Given the description of an element on the screen output the (x, y) to click on. 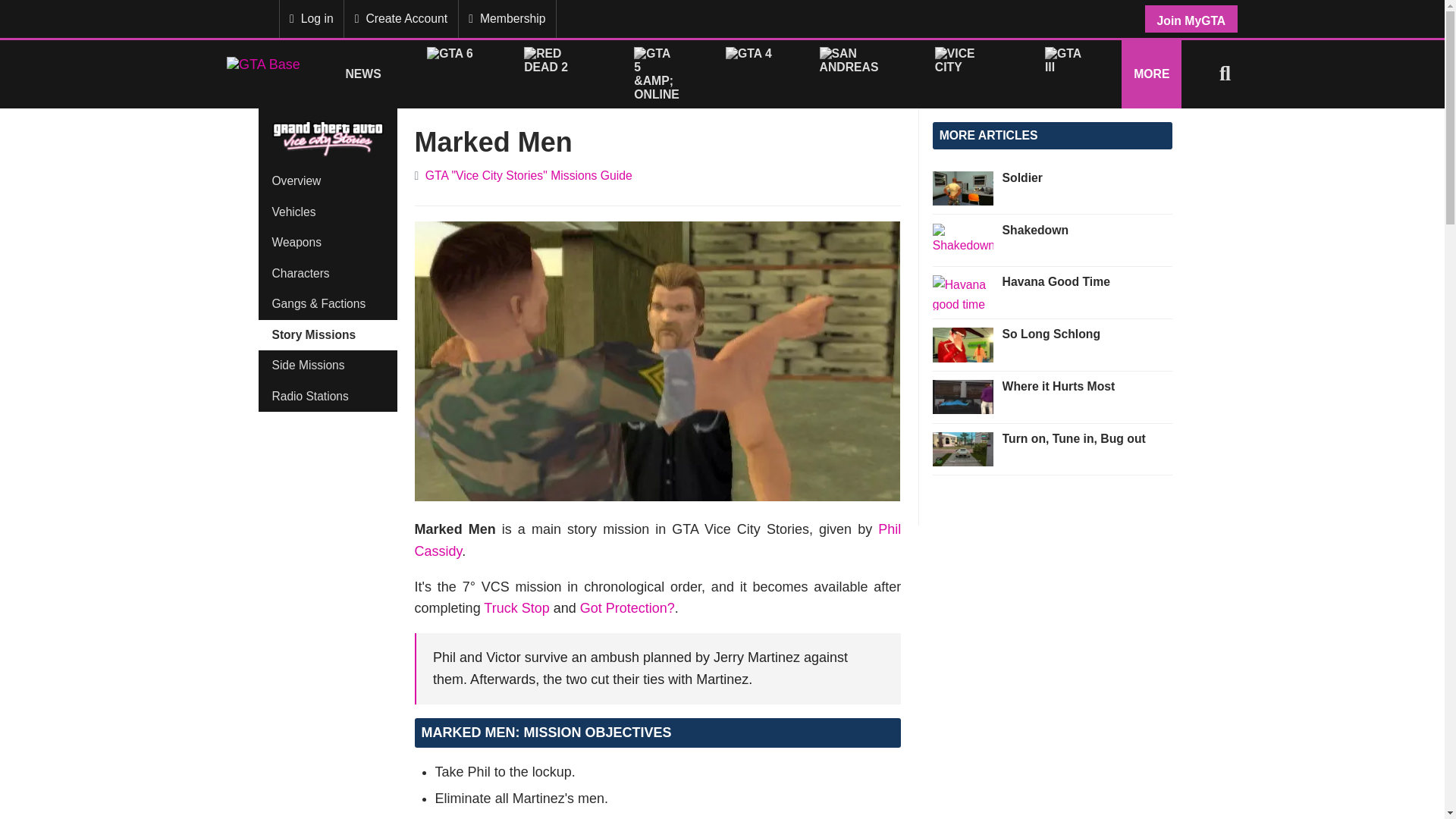
GTA Base (263, 73)
Join MyGTA (1190, 18)
MyBase (237, 18)
Log in (311, 18)
GTA Base (263, 73)
Create Account (400, 18)
Membership (507, 18)
GTA 6 (451, 73)
MyBase Membership (237, 18)
RED DEAD 2 (555, 73)
